Given the description of an element on the screen output the (x, y) to click on. 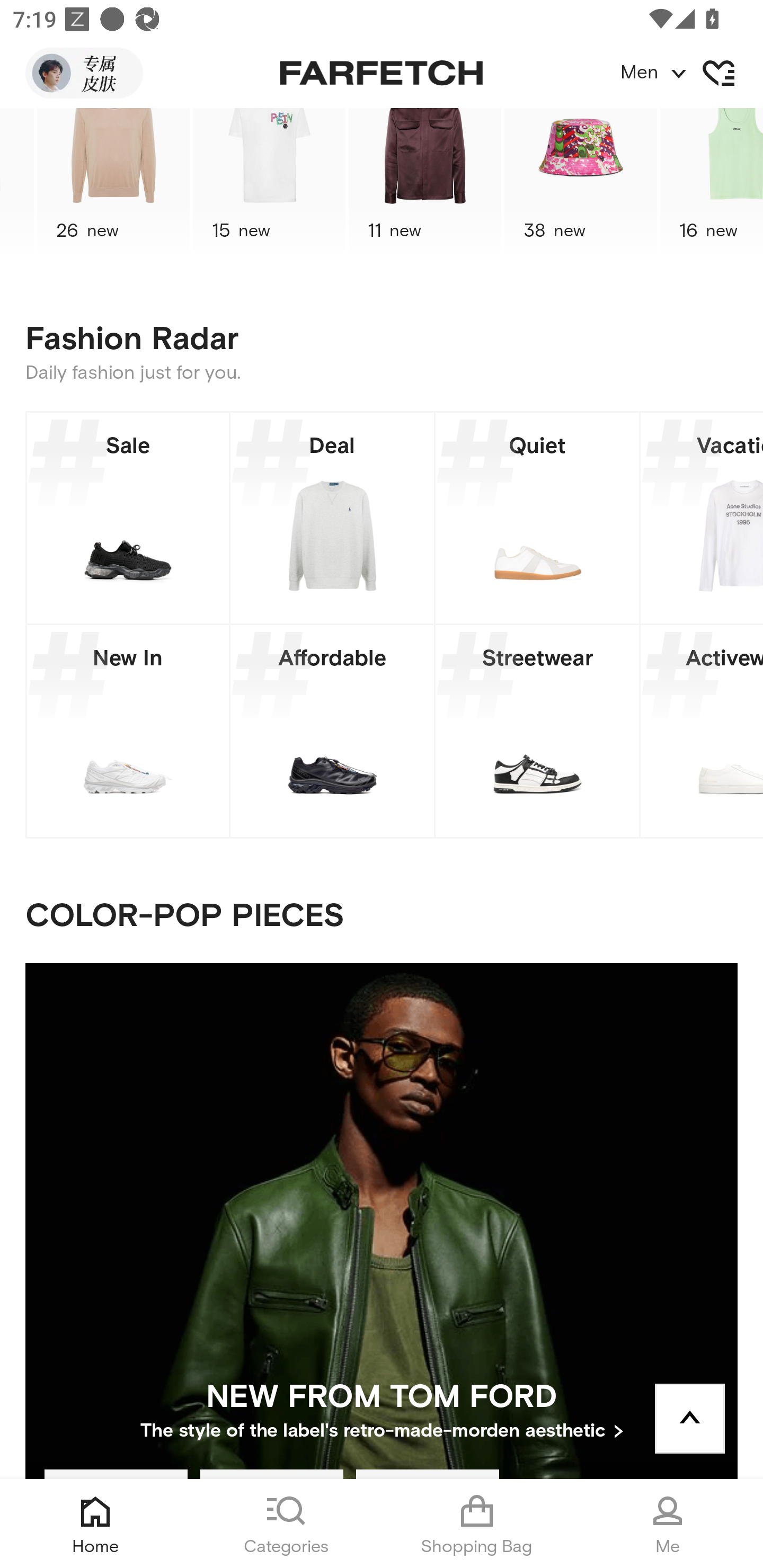
Men (691, 72)
Brunello Cucinelli 26  new (113, 184)
Philipp Plein 15  new (269, 184)
Jil Sander 11  new (424, 184)
Dsquared2 38  new (580, 184)
Versace 16  new (711, 184)
Sale (127, 518)
Deal (332, 518)
Quiet (537, 518)
Vacation (701, 518)
New In (127, 731)
Affordable (332, 731)
Streetwear (537, 731)
Activewear (701, 731)
Categories (285, 1523)
Shopping Bag (476, 1523)
Me (667, 1523)
